Given the description of an element on the screen output the (x, y) to click on. 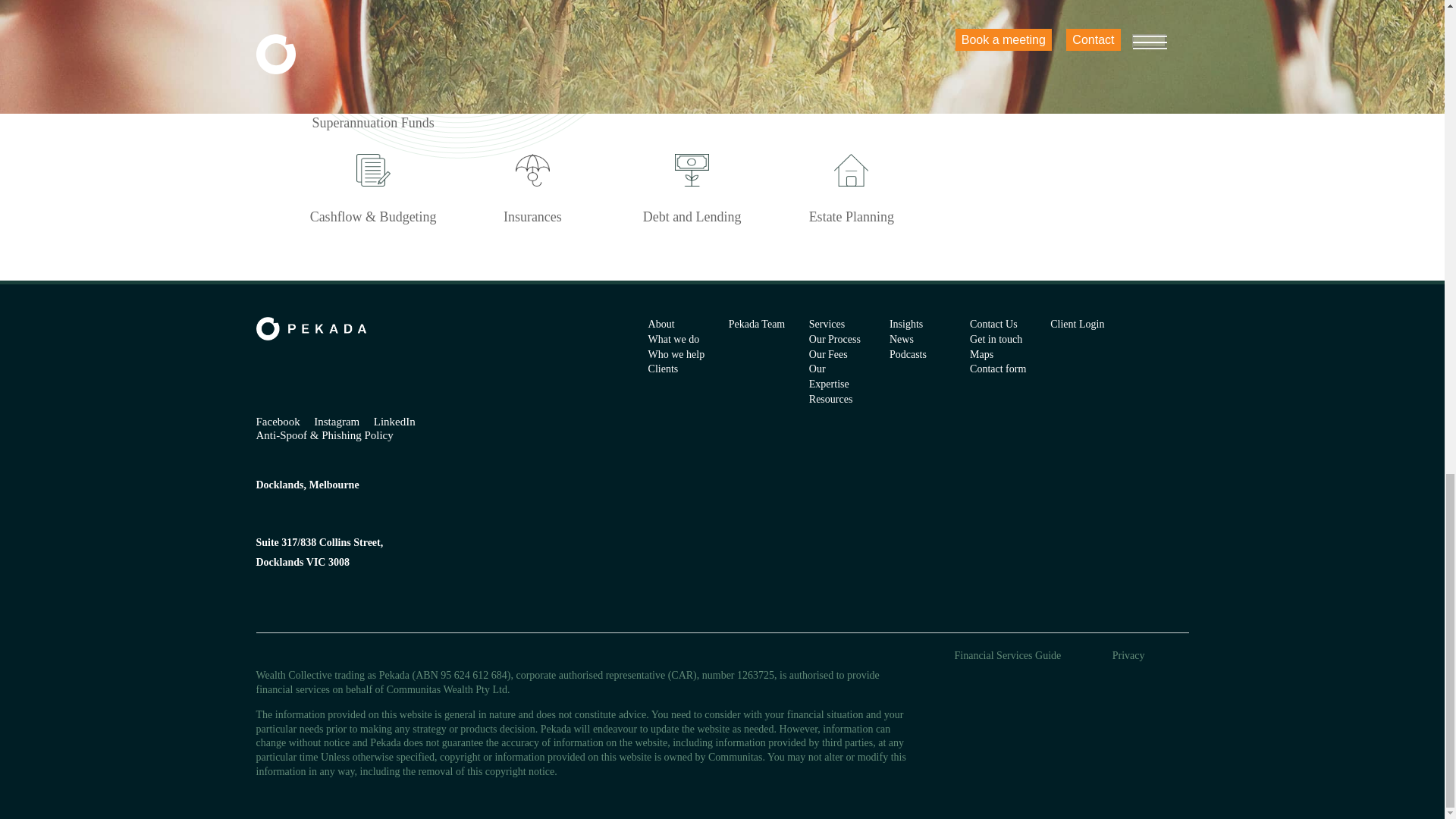
Debt and Lending (691, 184)
Estate Planning (850, 184)
Superannuation (850, 72)
Insurances (532, 184)
Self Managed Superannuation Funds (372, 81)
Retirement Planning (691, 72)
Investment Management (532, 72)
